Given the description of an element on the screen output the (x, y) to click on. 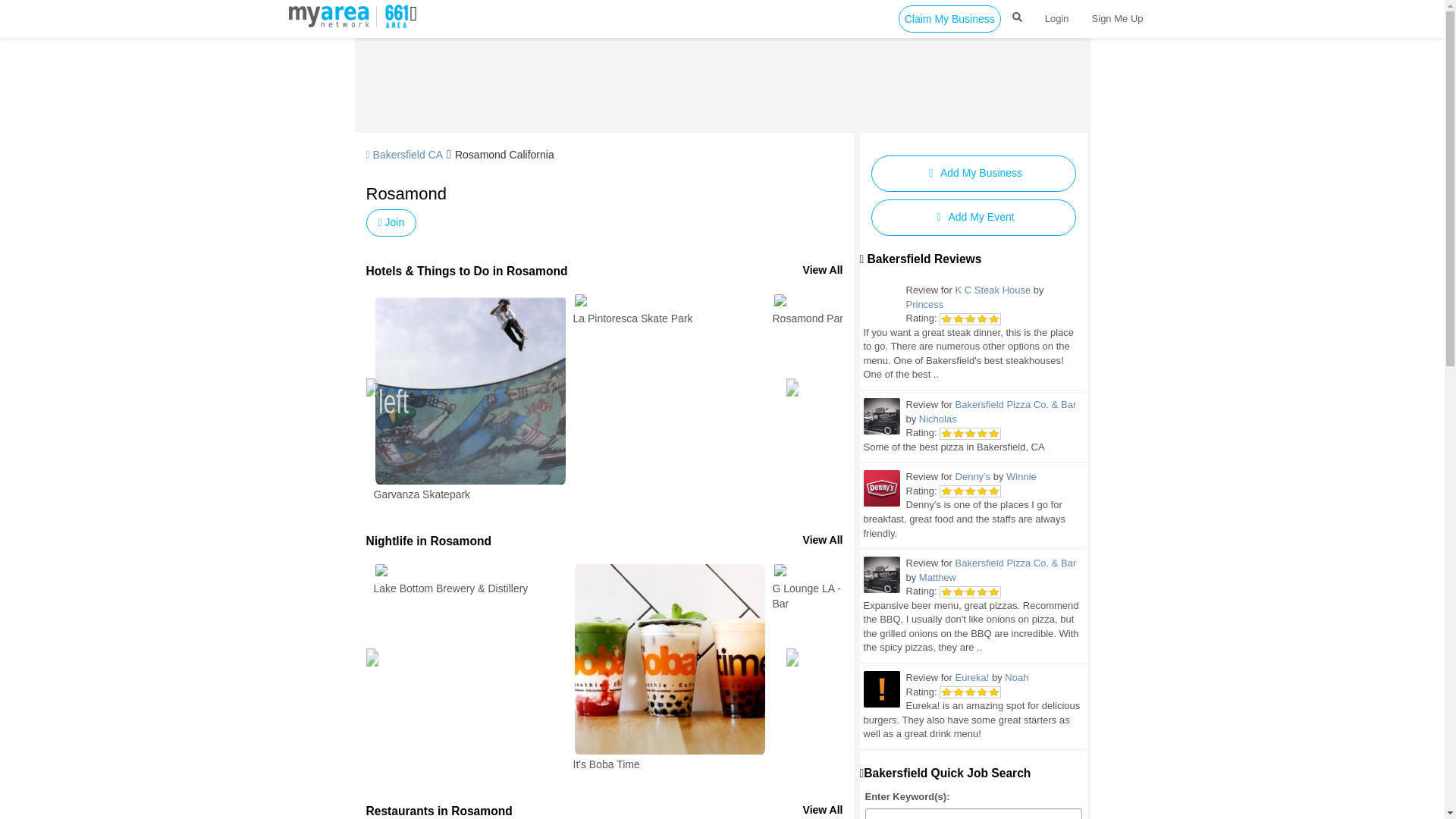
Claim My Business (949, 18)
Login (1056, 18)
Add My Event (972, 217)
Add Events (972, 217)
Add My Business (972, 173)
Sign Me Up (1117, 18)
Sign Me Up (1117, 18)
Princess (924, 304)
Add My Business (972, 173)
K C Steak House (881, 301)
Login (1056, 18)
Claim My Business (949, 18)
K C Steak House (992, 289)
